Given the description of an element on the screen output the (x, y) to click on. 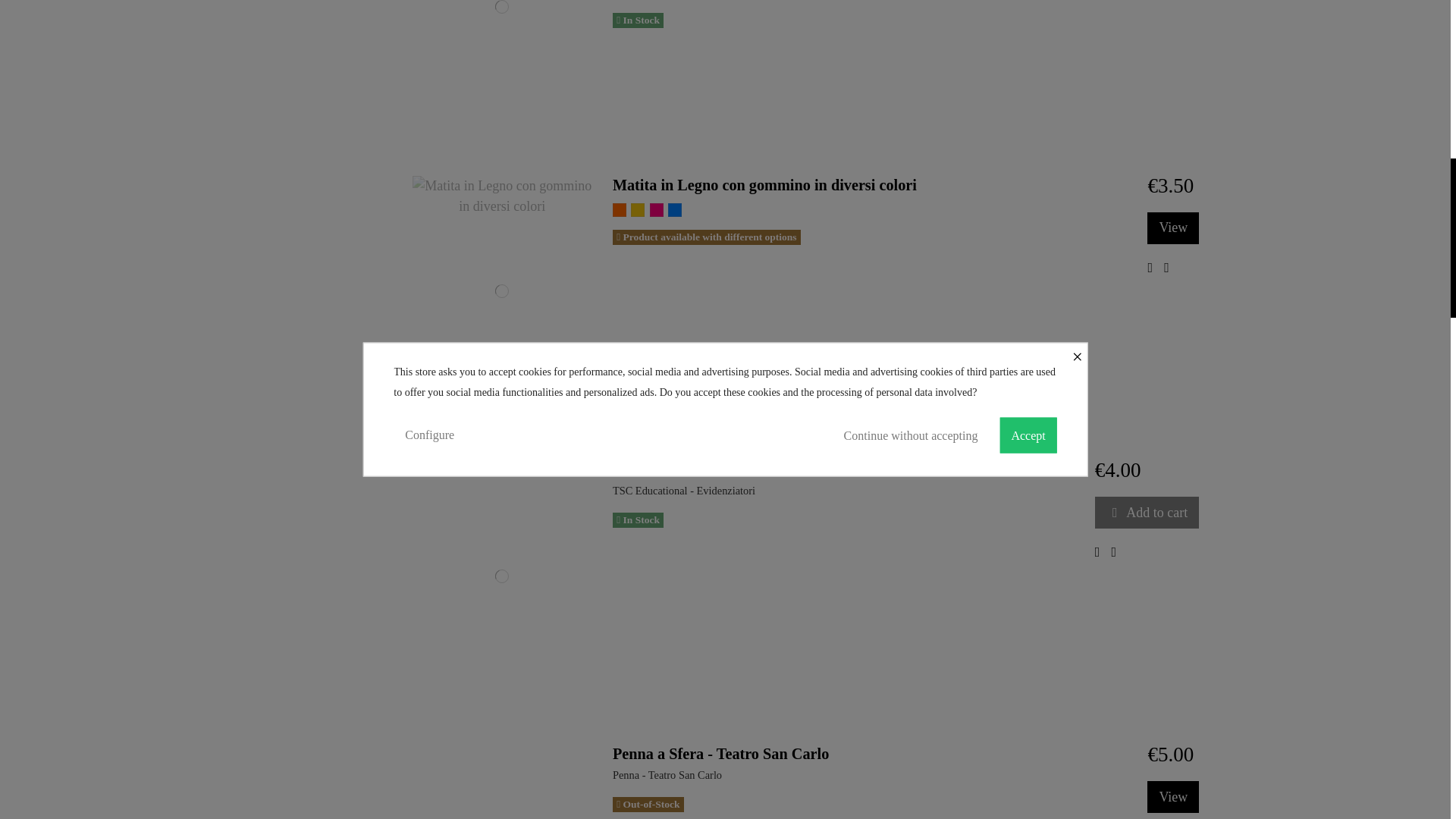
Arancione (619, 210)
Azzurro (674, 210)
Rosa (656, 210)
Giallo (637, 210)
